Given the description of an element on the screen output the (x, y) to click on. 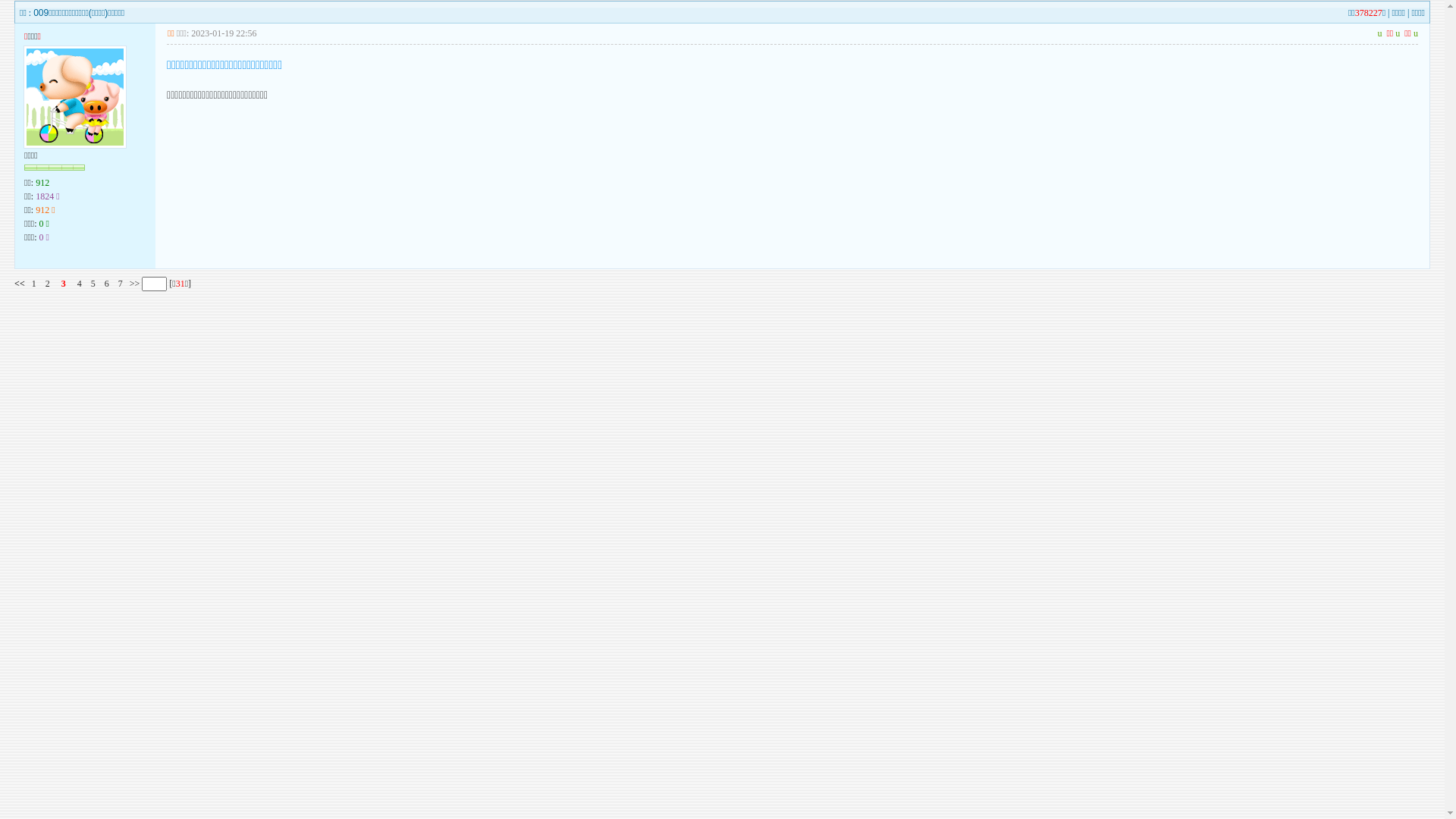
1 Element type: text (33, 283)
4 Element type: text (79, 283)
>> Element type: text (133, 283)
7 Element type: text (120, 283)
<< Element type: text (19, 283)
5 Element type: text (93, 283)
2 Element type: text (47, 283)
6 Element type: text (106, 283)
